Given the description of an element on the screen output the (x, y) to click on. 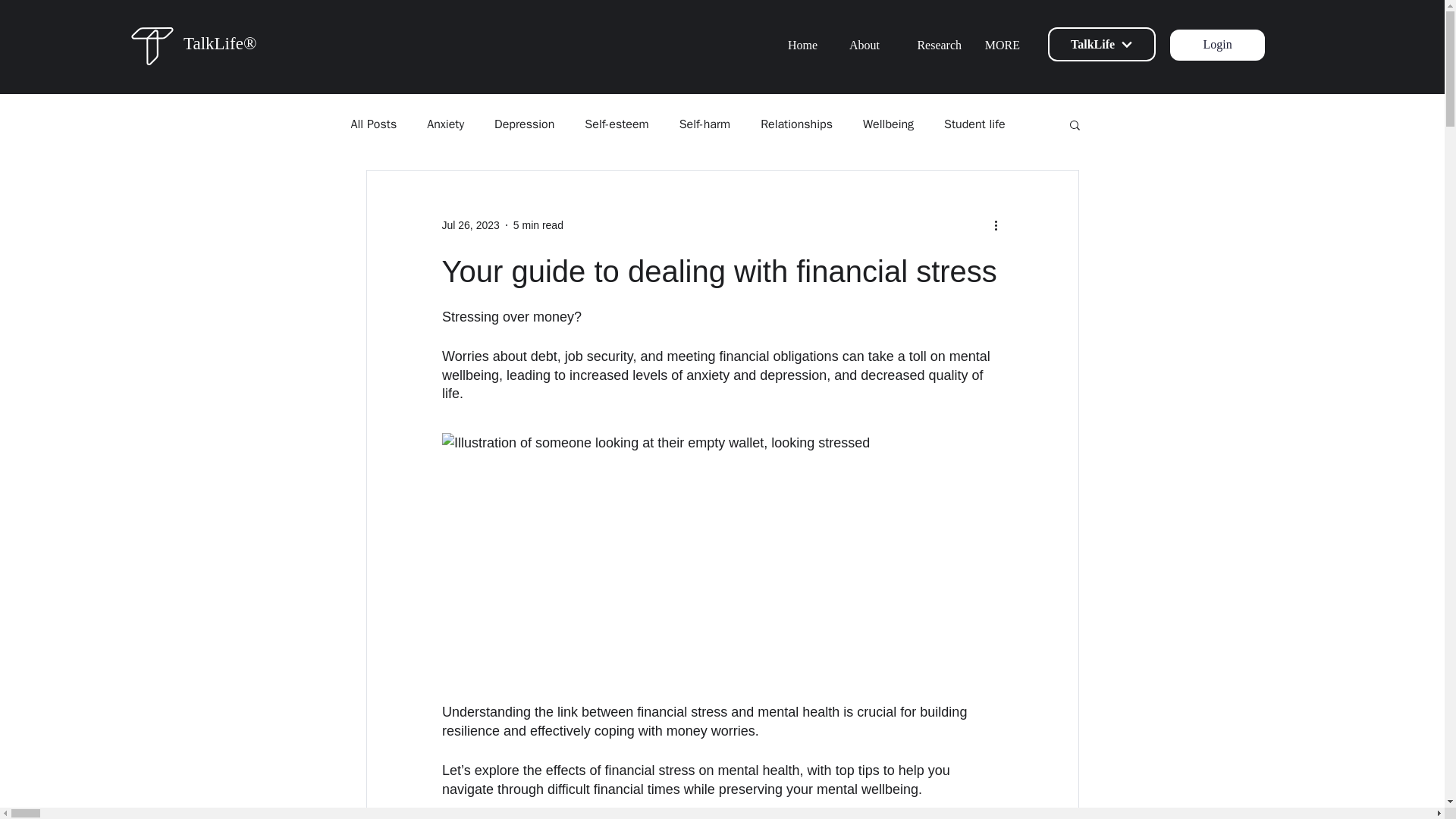
Student life (974, 124)
Login (1217, 44)
5 min read (538, 224)
Wellbeing (888, 124)
All Posts (373, 124)
Anxiety (445, 124)
Self-esteem (616, 124)
Self-harm (704, 124)
TalkLife (1102, 44)
About (859, 45)
Jul 26, 2023 (470, 224)
Home (797, 45)
Depression (524, 124)
Relationships (796, 124)
Research (931, 45)
